Given the description of an element on the screen output the (x, y) to click on. 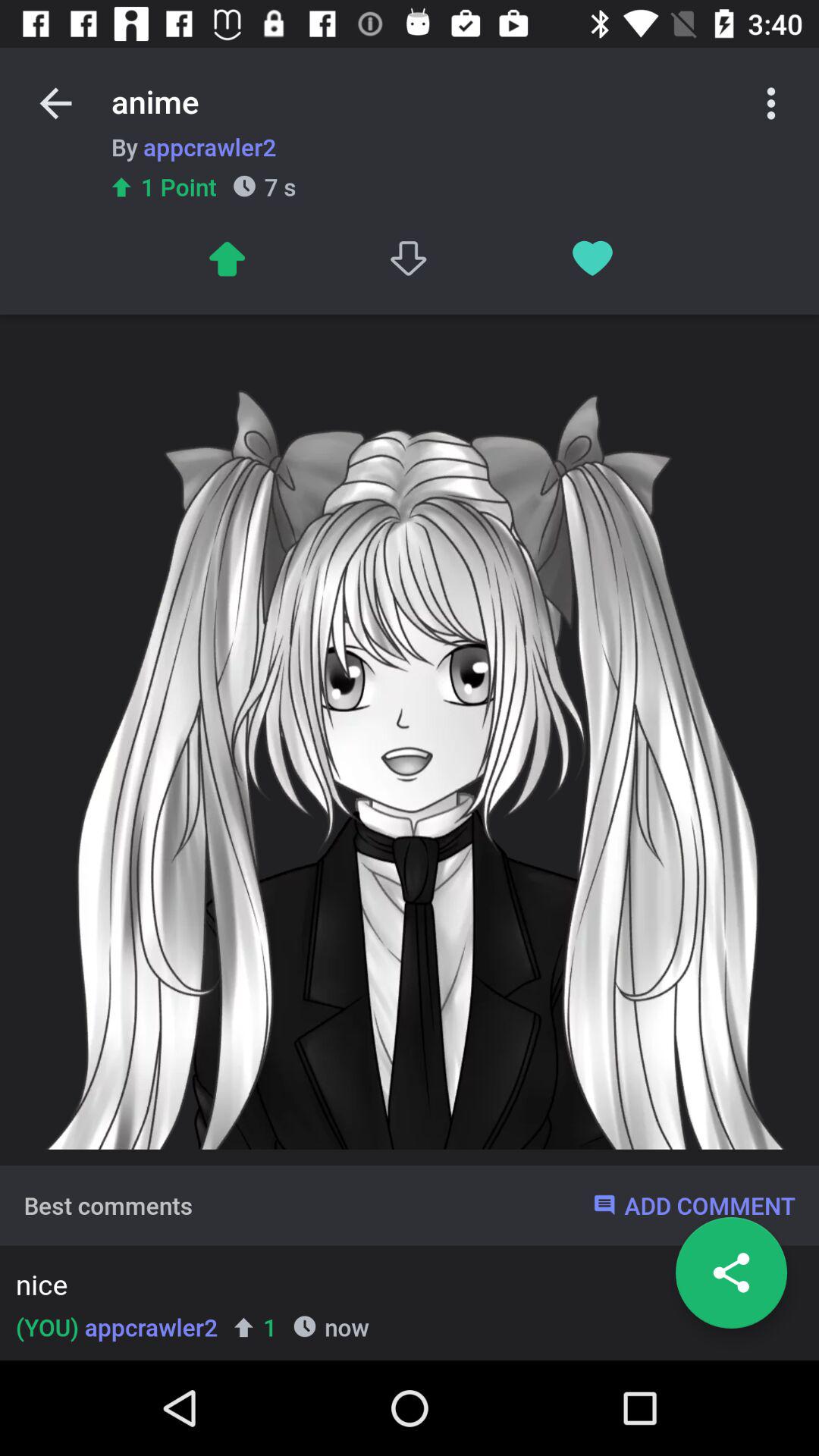
like post (592, 258)
